Given the description of an element on the screen output the (x, y) to click on. 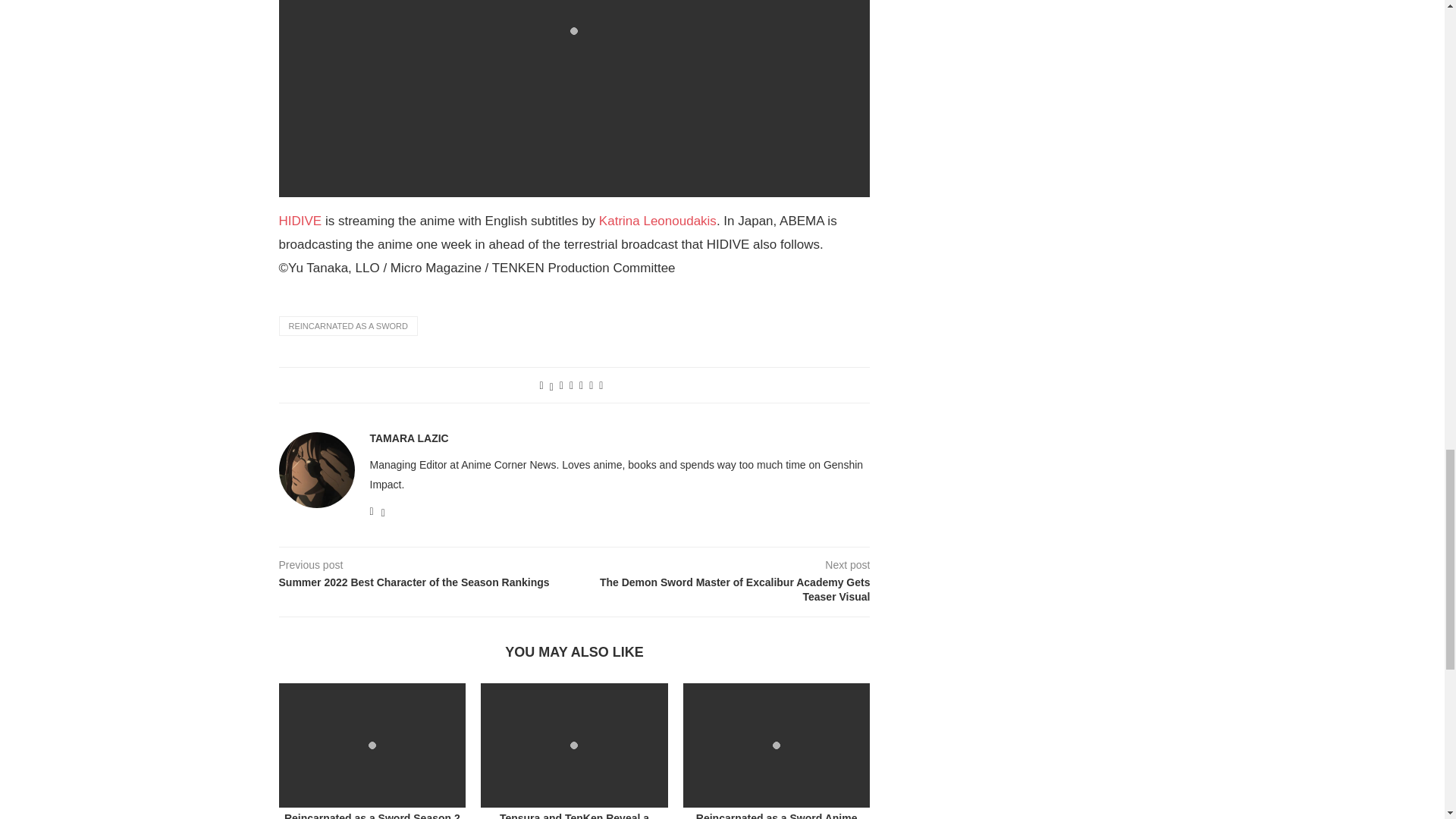
Tensura and TenKen Reveal a Collaborative Visual (574, 745)
Reincarnated as a Sword Season 2 TV Anime Announced (372, 745)
